Given the description of an element on the screen output the (x, y) to click on. 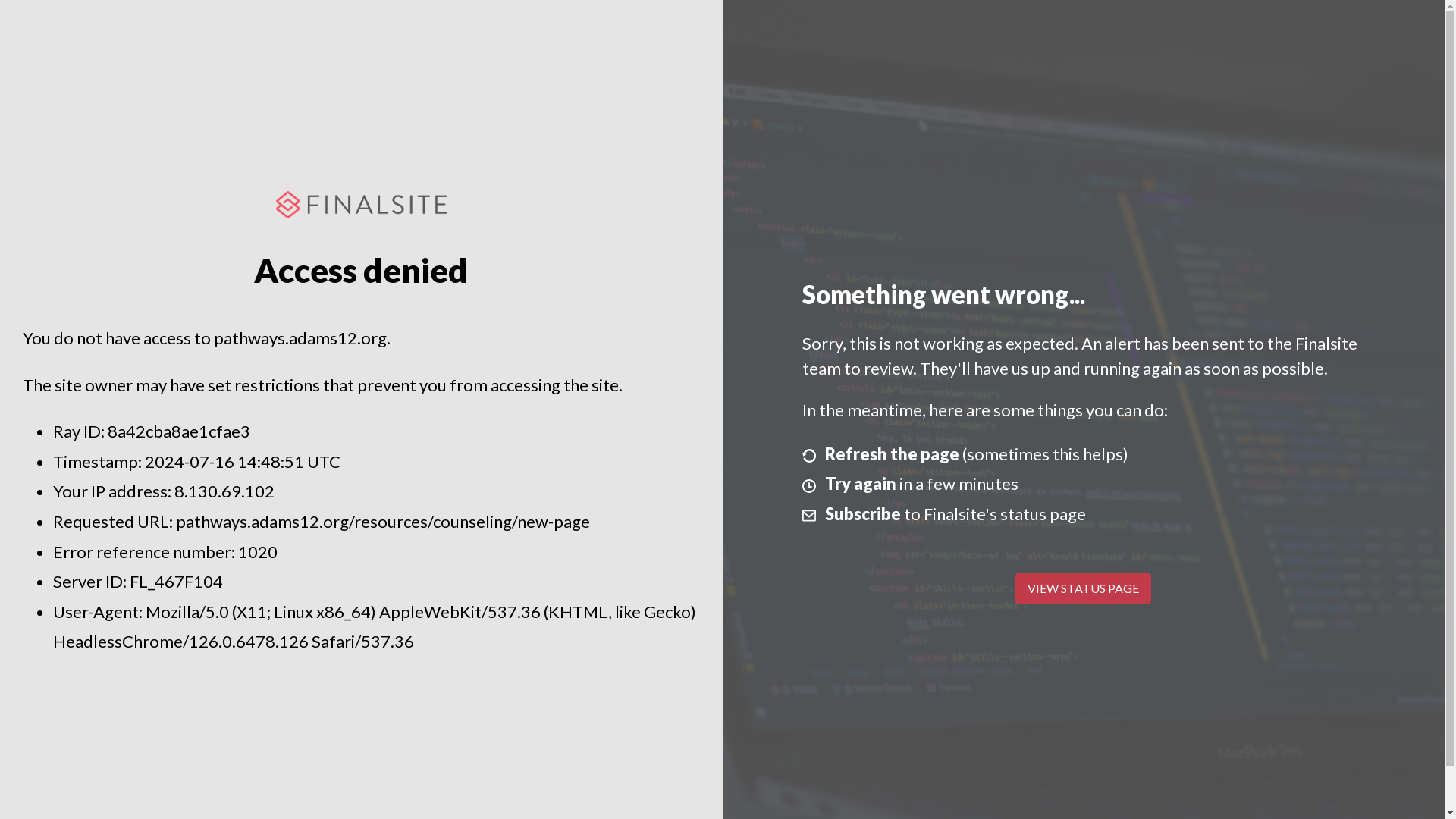
VIEW STATUS PAGE (1082, 588)
